Given the description of an element on the screen output the (x, y) to click on. 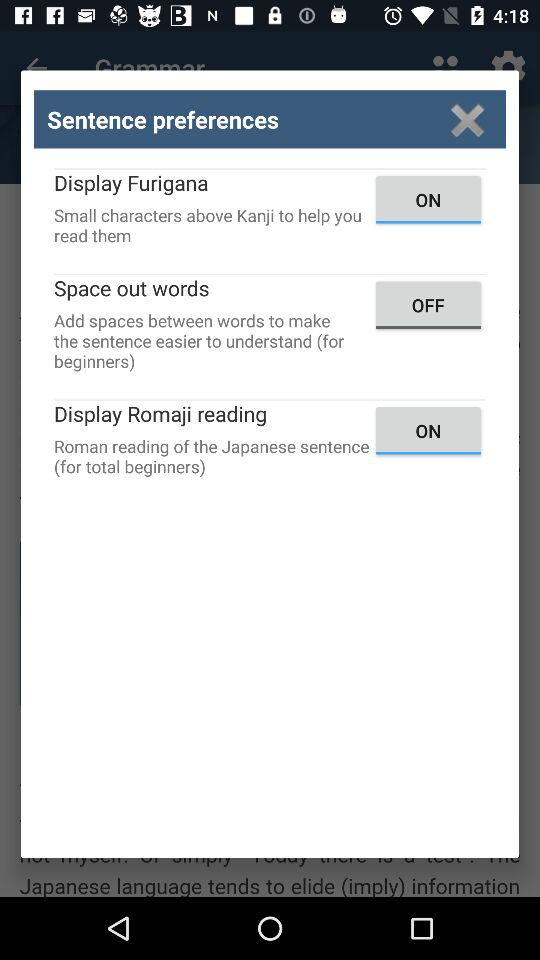
tap the item next to space out words icon (427, 304)
